Given the description of an element on the screen output the (x, y) to click on. 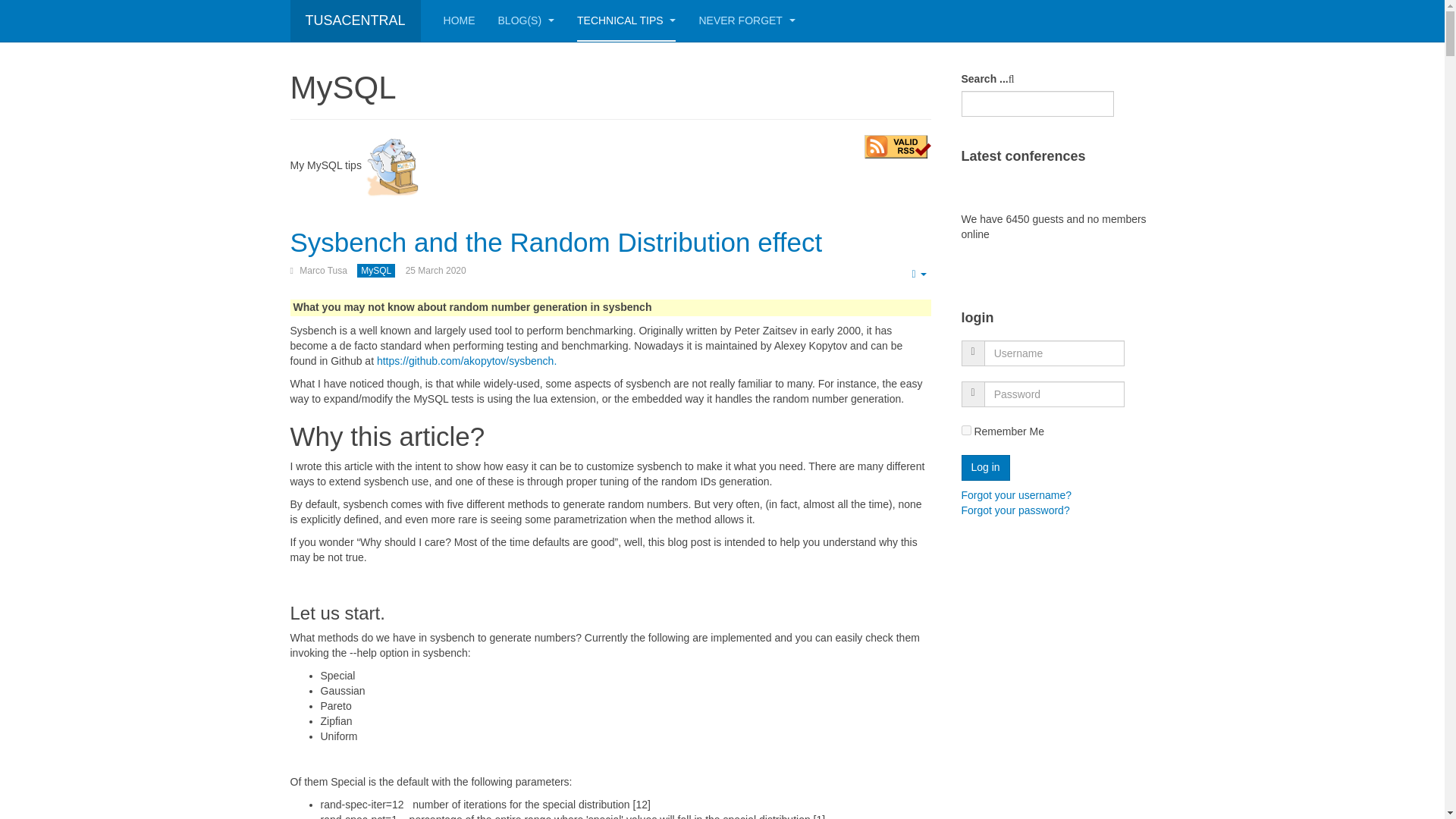
Sysbench and the Random Distribution effect (555, 242)
NEVER FORGET (746, 20)
Validate my RSS feed (897, 146)
TECHNICAL TIPS (625, 20)
Log in (985, 467)
TUSACENTRAL (354, 20)
TusaCentral (354, 20)
yes (965, 429)
